Given the description of an element on the screen output the (x, y) to click on. 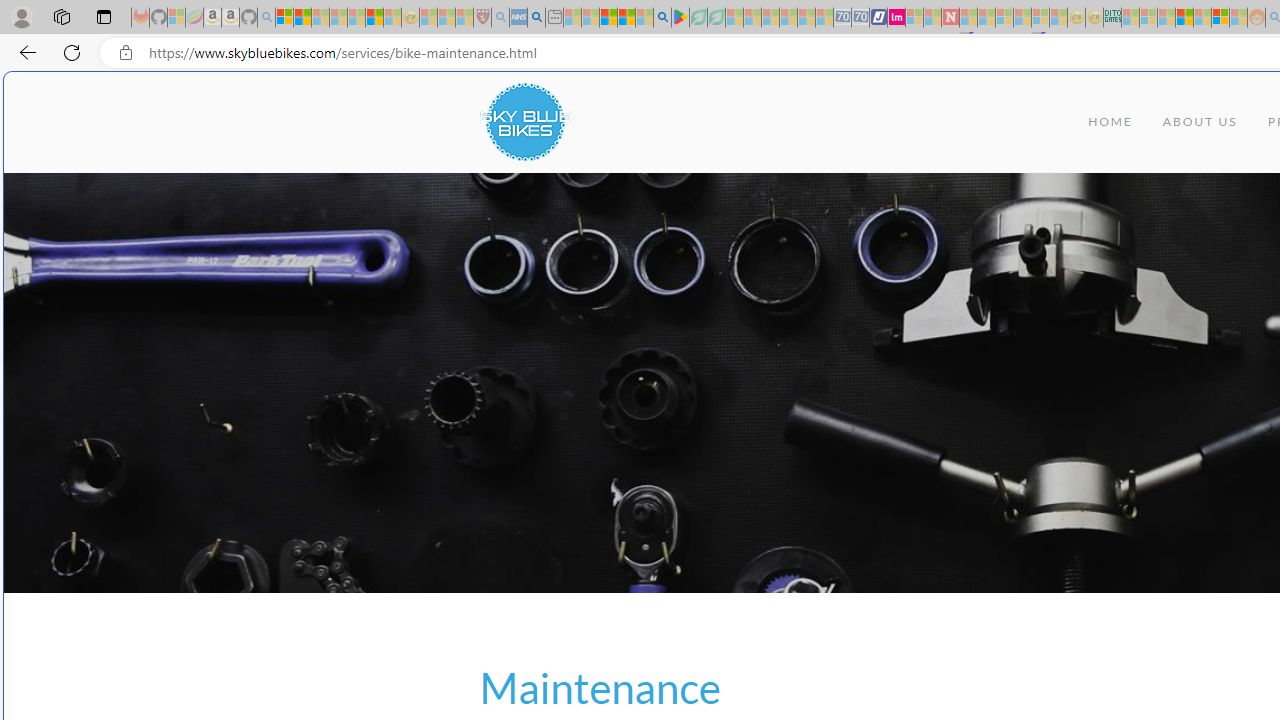
Class: uk-navbar-item uk-logo (524, 122)
